Given the description of an element on the screen output the (x, y) to click on. 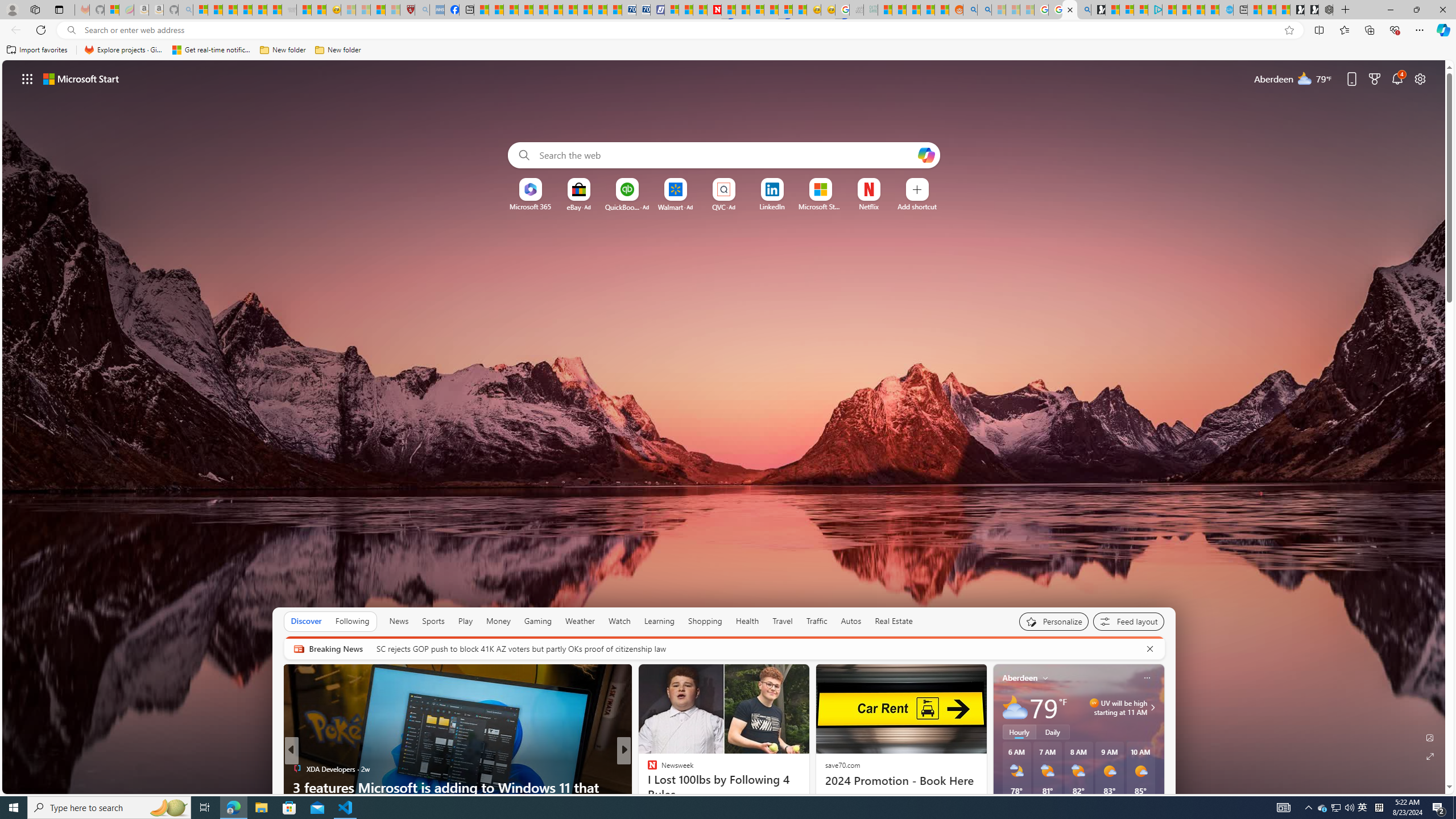
Health (746, 621)
Traffic (816, 621)
Cheap Hotels - Save70.com (643, 9)
App launcher (27, 78)
Student Loan Update: Forgiveness Program Ends This Month (927, 9)
Shopping (705, 621)
Gaming (537, 621)
